Given the description of an element on the screen output the (x, y) to click on. 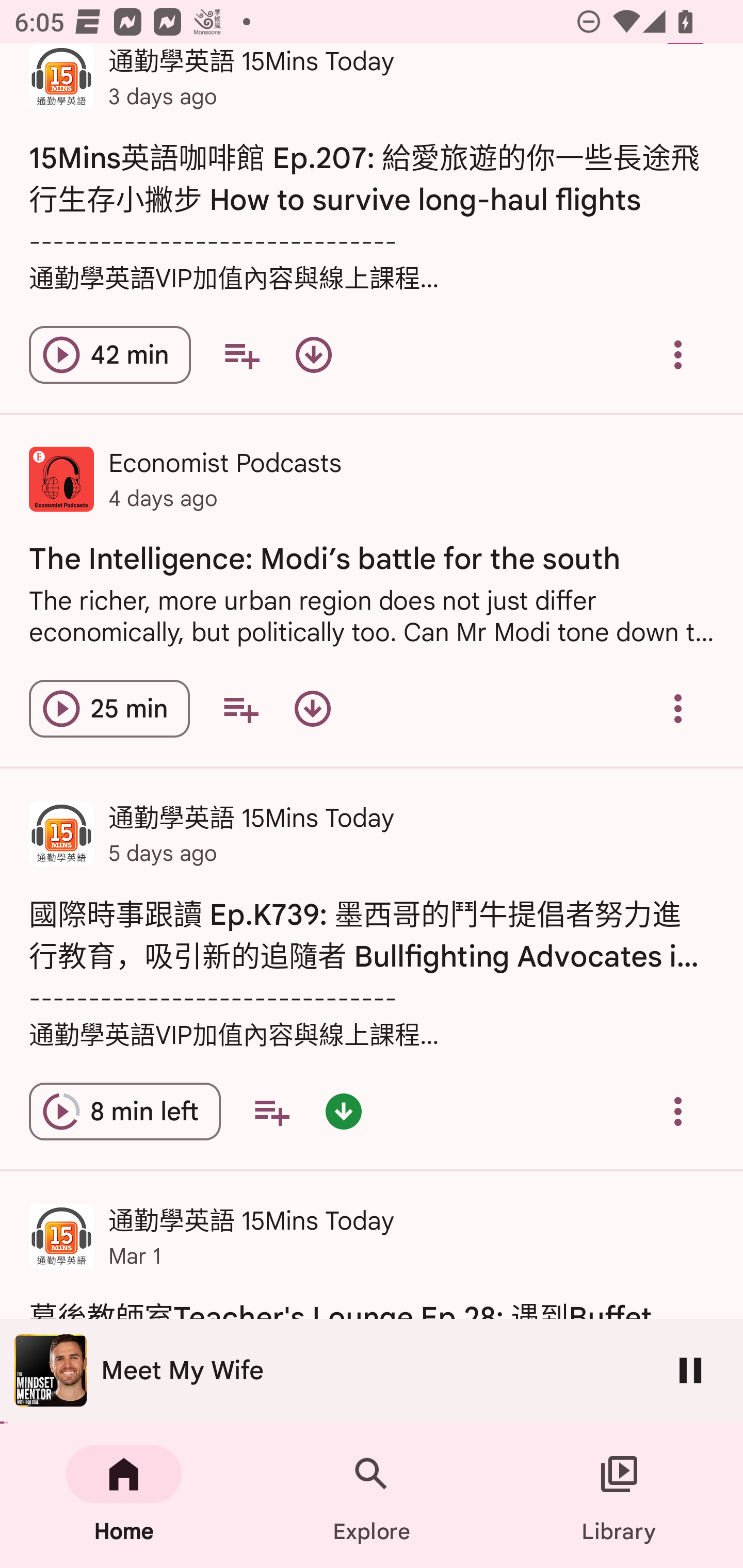
Add to your queue (241, 355)
Download episode (313, 355)
Overflow menu (677, 355)
Add to your queue (240, 708)
Download episode (312, 708)
Overflow menu (677, 708)
Add to your queue (271, 1111)
Episode downloaded - double tap for options (343, 1111)
Overflow menu (677, 1111)
The Mindset Mentor Meet My Wife Pause 50.0 (371, 1370)
Pause (690, 1370)
Explore (371, 1495)
Library (619, 1495)
